Given the description of an element on the screen output the (x, y) to click on. 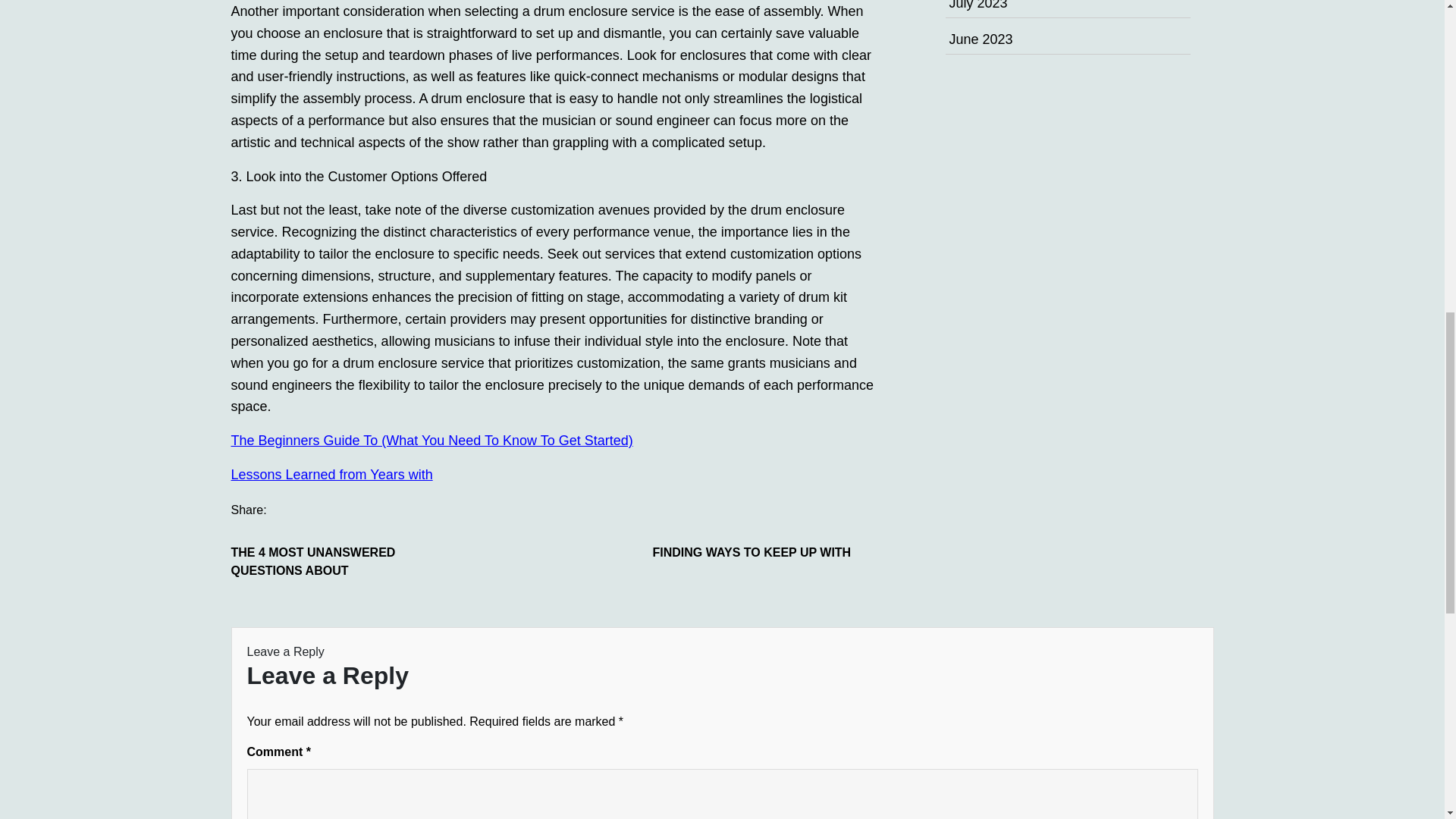
FINDING WAYS TO KEEP UP WITH (765, 552)
July 2023 (978, 5)
THE 4 MOST UNANSWERED QUESTIONS ABOUT (344, 561)
June 2023 (981, 38)
Lessons Learned from Years with (331, 474)
